Given the description of an element on the screen output the (x, y) to click on. 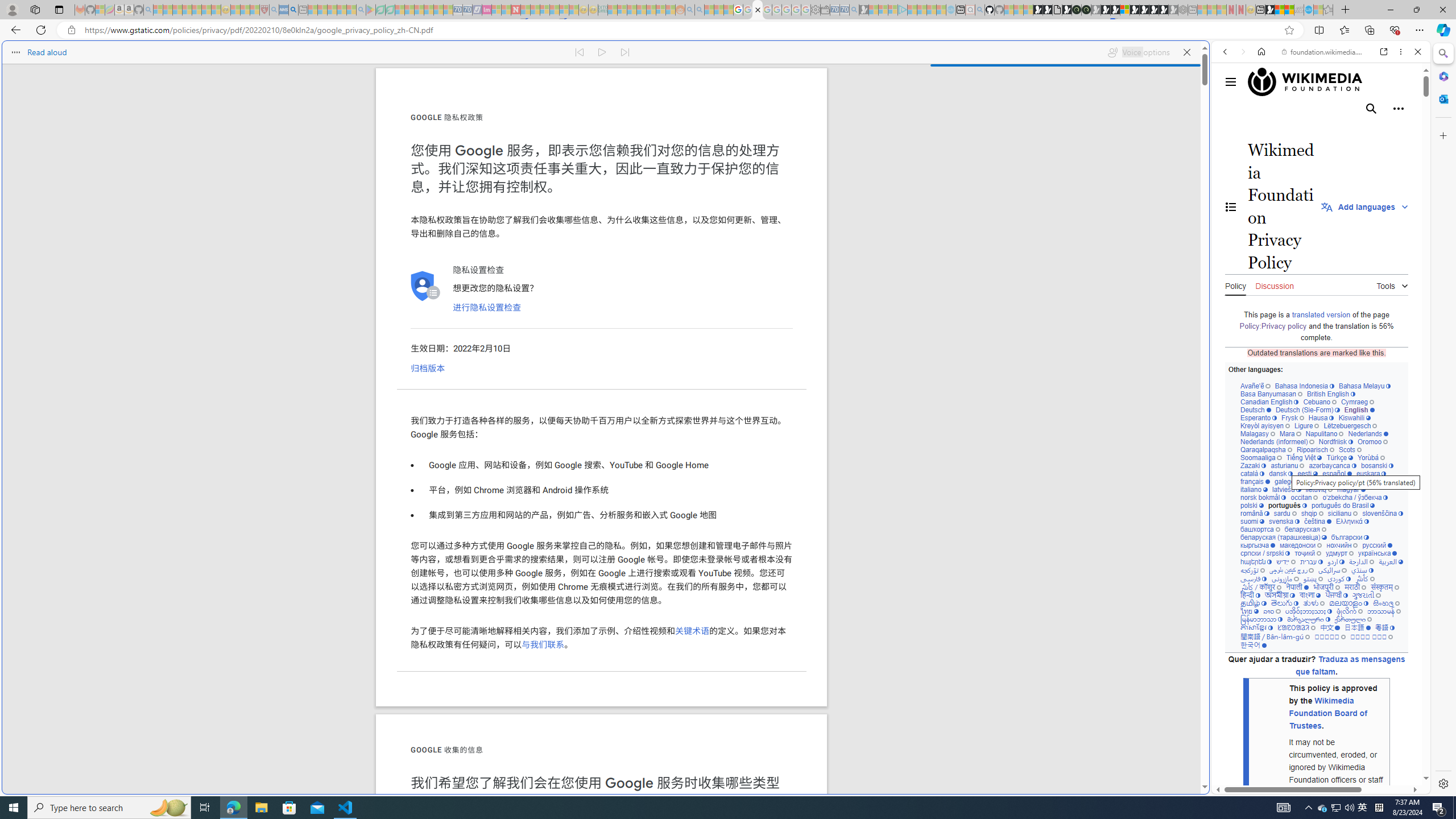
suomi (1252, 520)
Nederlands (informeel) (1277, 441)
WEB   (1230, 130)
Search Filter, VIDEOS (1300, 129)
Qaraqalpaqsha (1266, 449)
NCL Adult Asthma Inhaler Choice Guideline - Sleeping (283, 9)
